Given the description of an element on the screen output the (x, y) to click on. 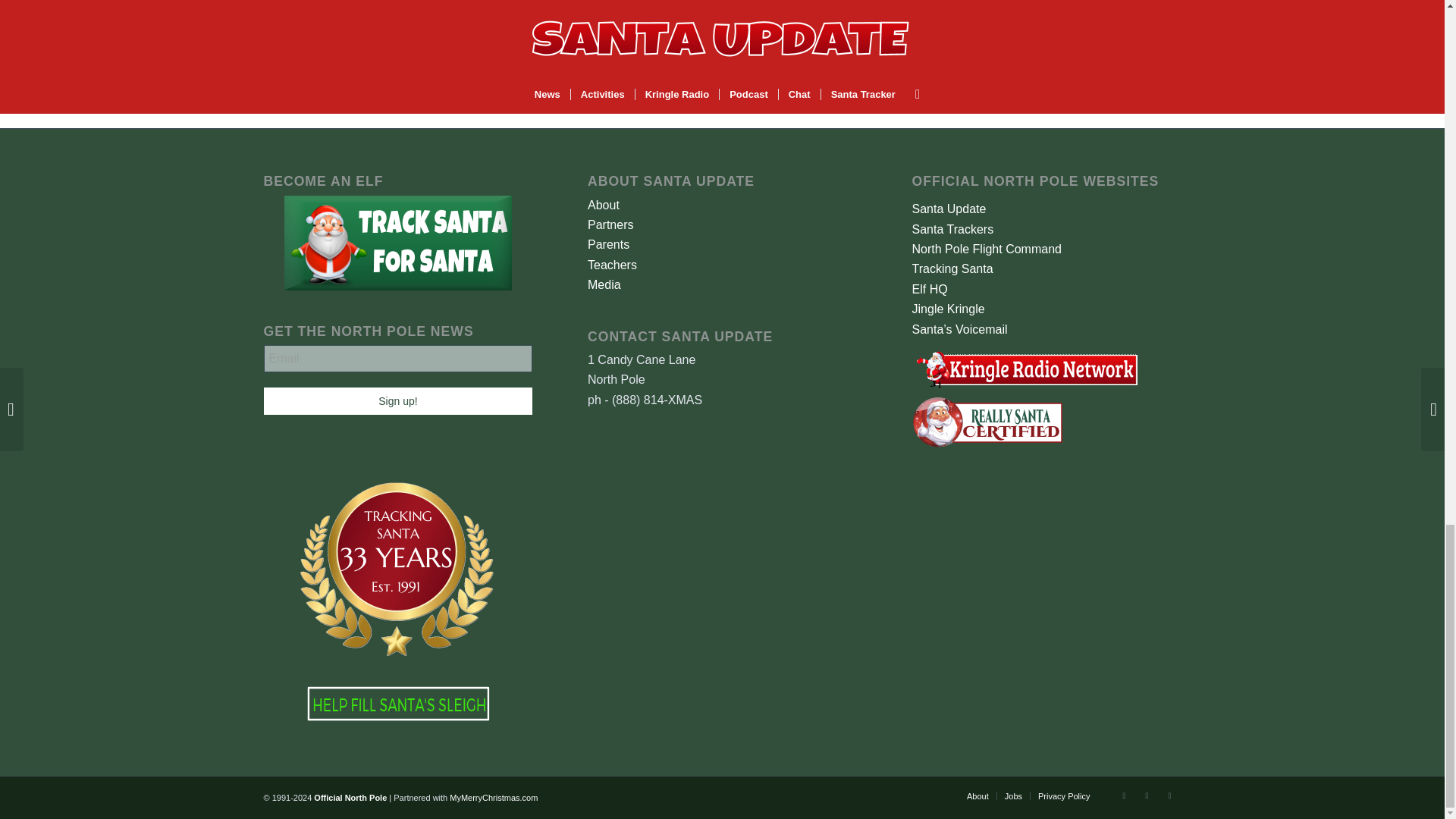
Facebook (1146, 794)
X (1124, 794)
Sign up! (397, 400)
Become an Elf (397, 242)
Mail (1169, 794)
